Given the description of an element on the screen output the (x, y) to click on. 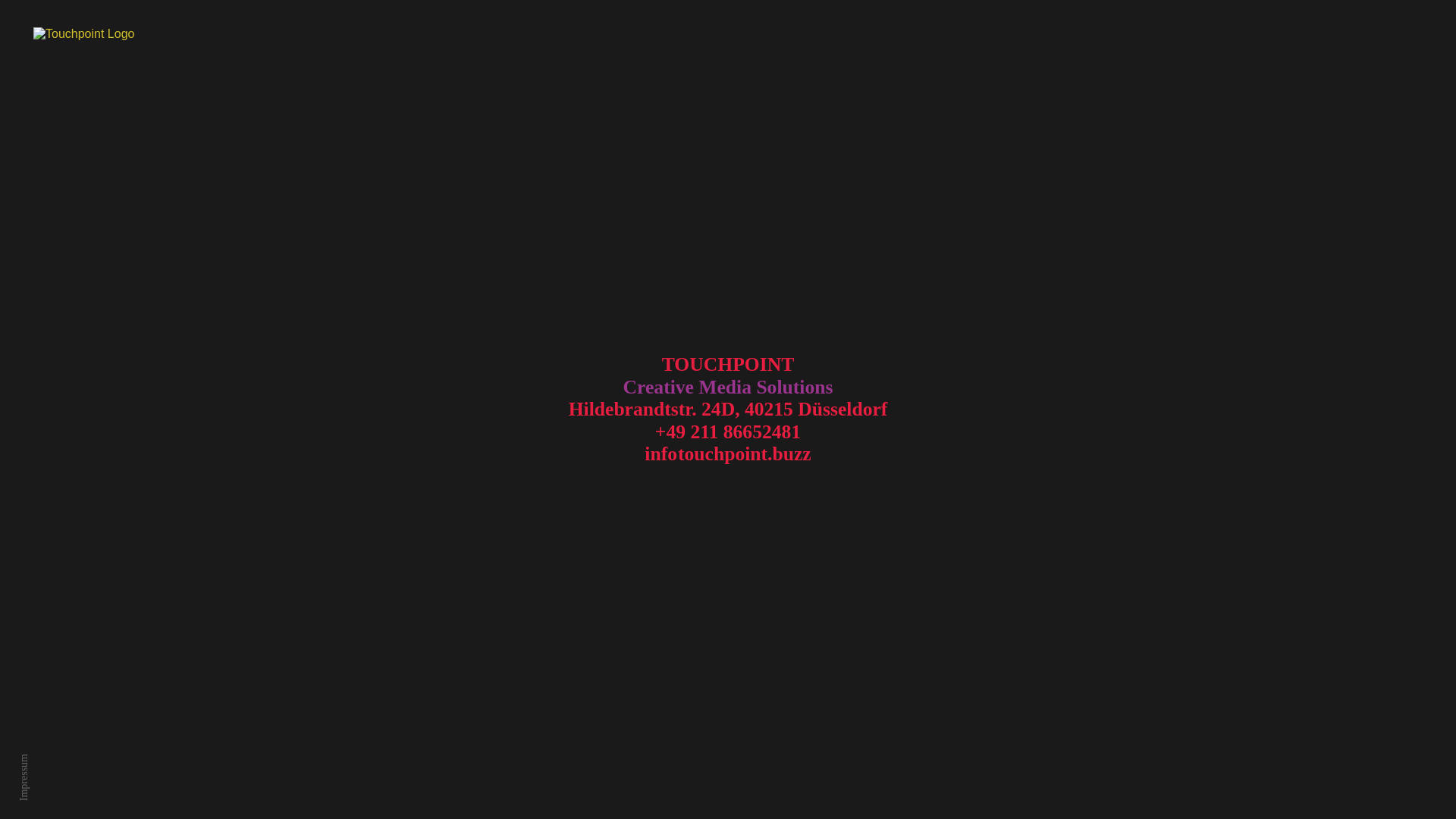
Impressum Element type: text (23, 776)
info@touchpoint.buzz Element type: text (727, 453)
+49 211 86652481 Element type: text (727, 431)
